Given the description of an element on the screen output the (x, y) to click on. 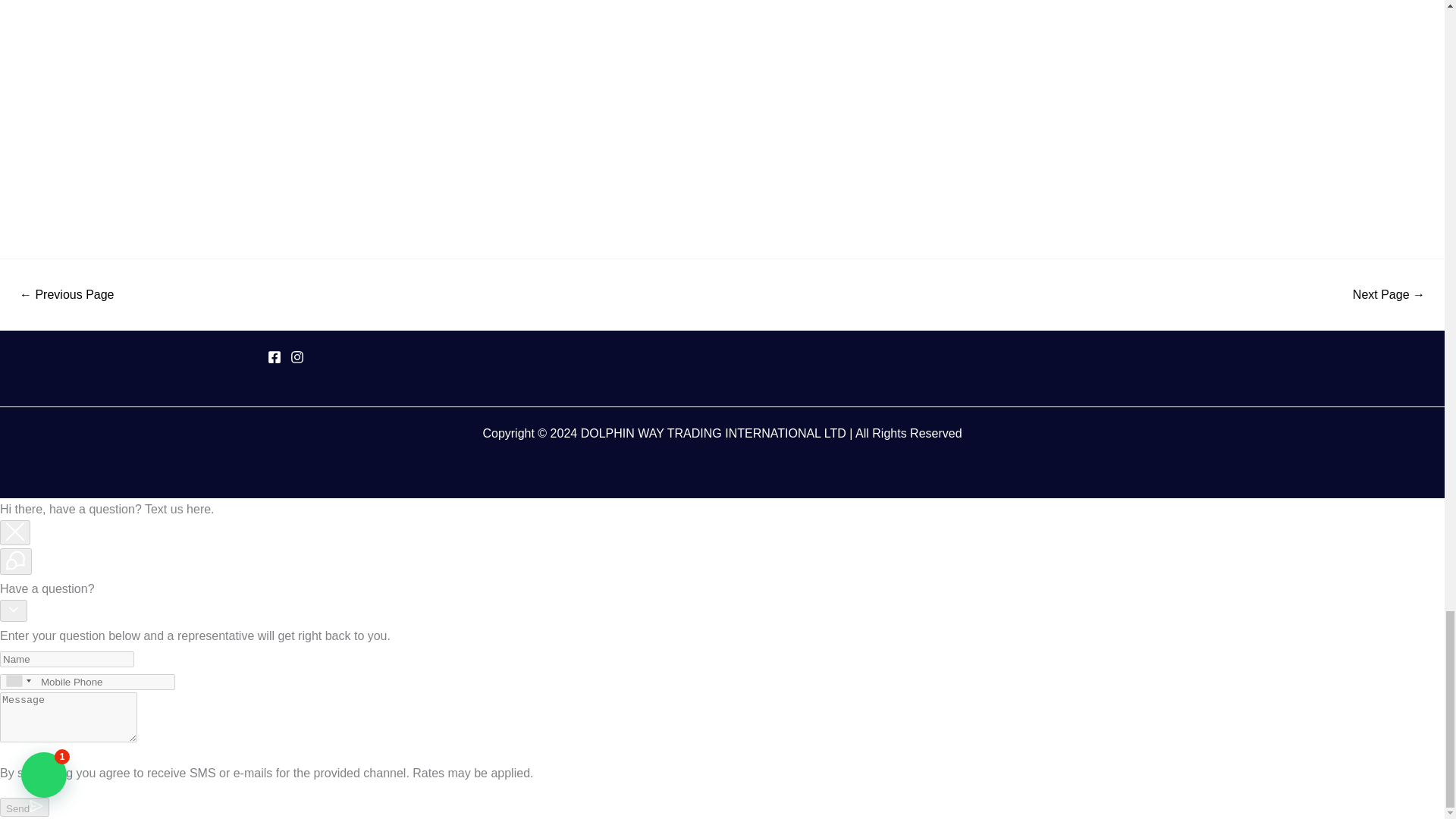
Website Design (1388, 295)
Contact us (66, 295)
